Given the description of an element on the screen output the (x, y) to click on. 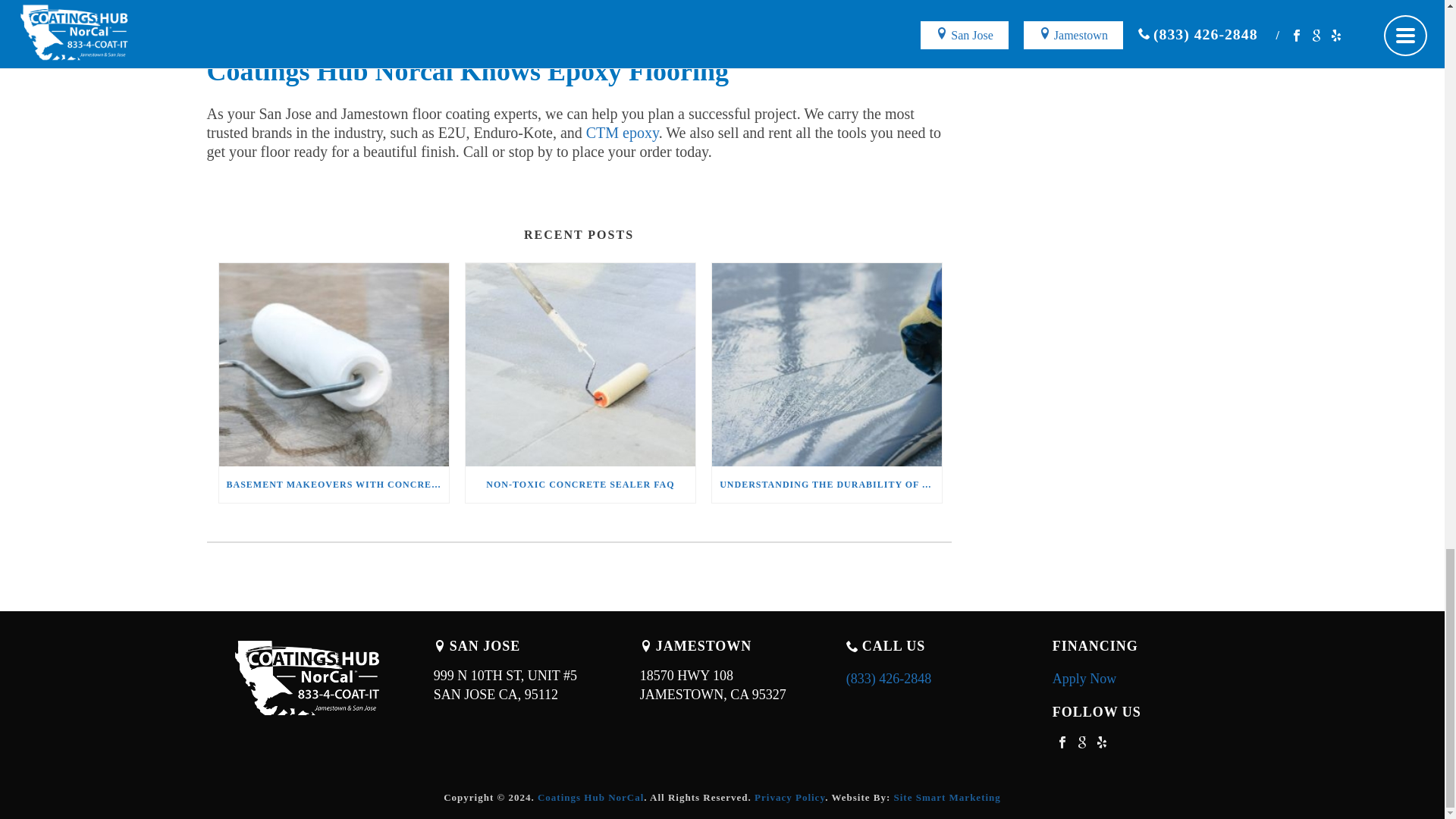
CTM epoxy (622, 132)
Apply Now (1084, 678)
Coatings Hub NorCal (310, 679)
Site Smart Marketing (946, 797)
UNDERSTANDING THE DURABILITY OF EPOXY FOR GARAGE FLOORS (826, 484)
A true epoxy floor coating (425, 9)
Site Smart Marketing (946, 797)
Coatings Hub NorCal (722, 685)
Understanding The Durability Of Epoxy For Garage Floors (590, 797)
NON-TOXIC CONCRETE SEALER FAQ (826, 364)
Non-Toxic Concrete Sealer FAQ (580, 484)
Basement Makeovers With Concrete Stains (580, 364)
BASEMENT MAKEOVERS WITH CONCRETE STAINS (333, 364)
Privacy Policy (333, 484)
